Given the description of an element on the screen output the (x, y) to click on. 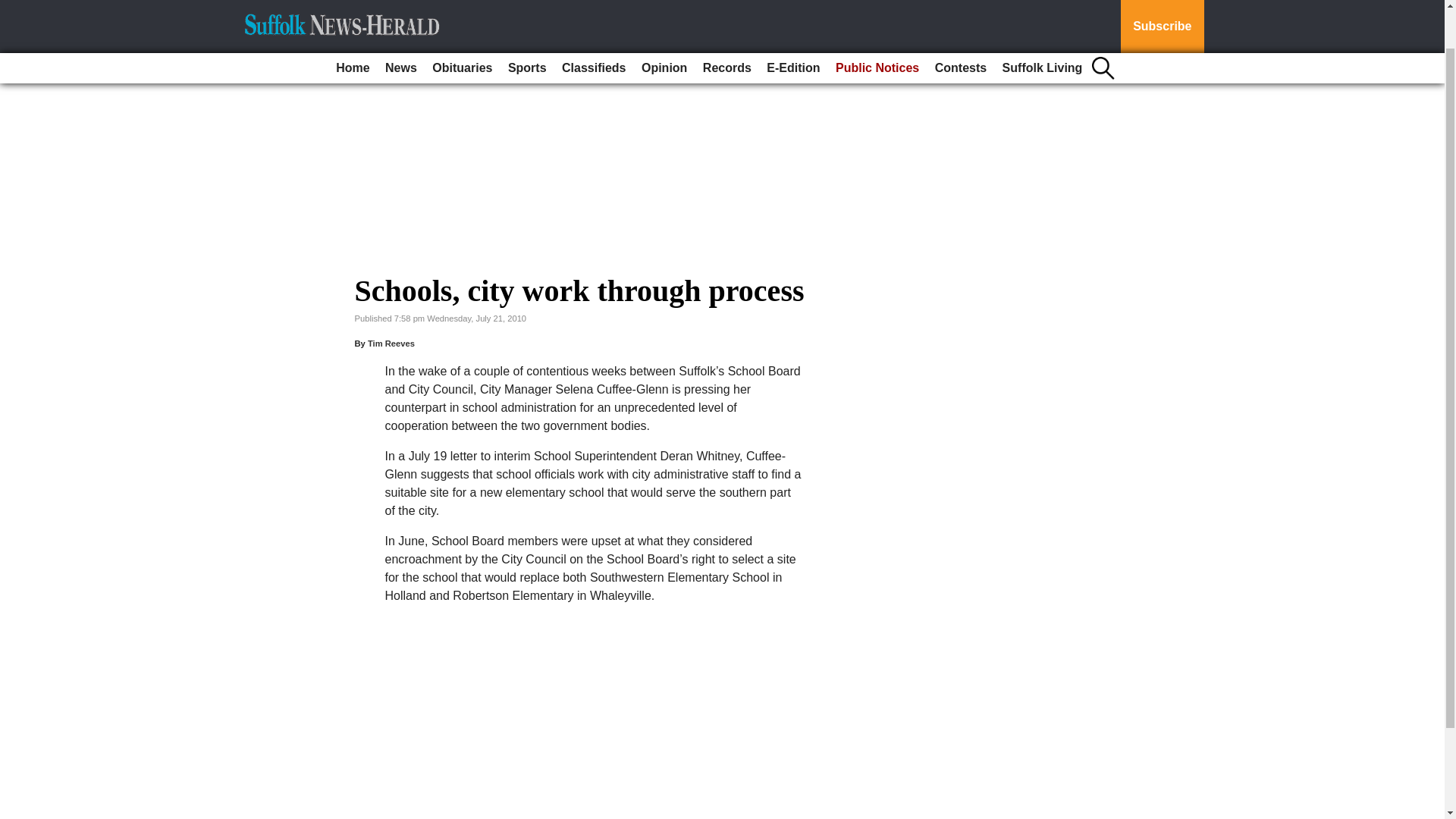
Obituaries (461, 23)
Opinion (663, 23)
Public Notices (876, 23)
Suffolk Living (1042, 23)
E-Edition (792, 23)
Records (727, 23)
Subscribe (1162, 4)
Tim Reeves (391, 343)
Classifieds (593, 23)
Sports (527, 23)
